Given the description of an element on the screen output the (x, y) to click on. 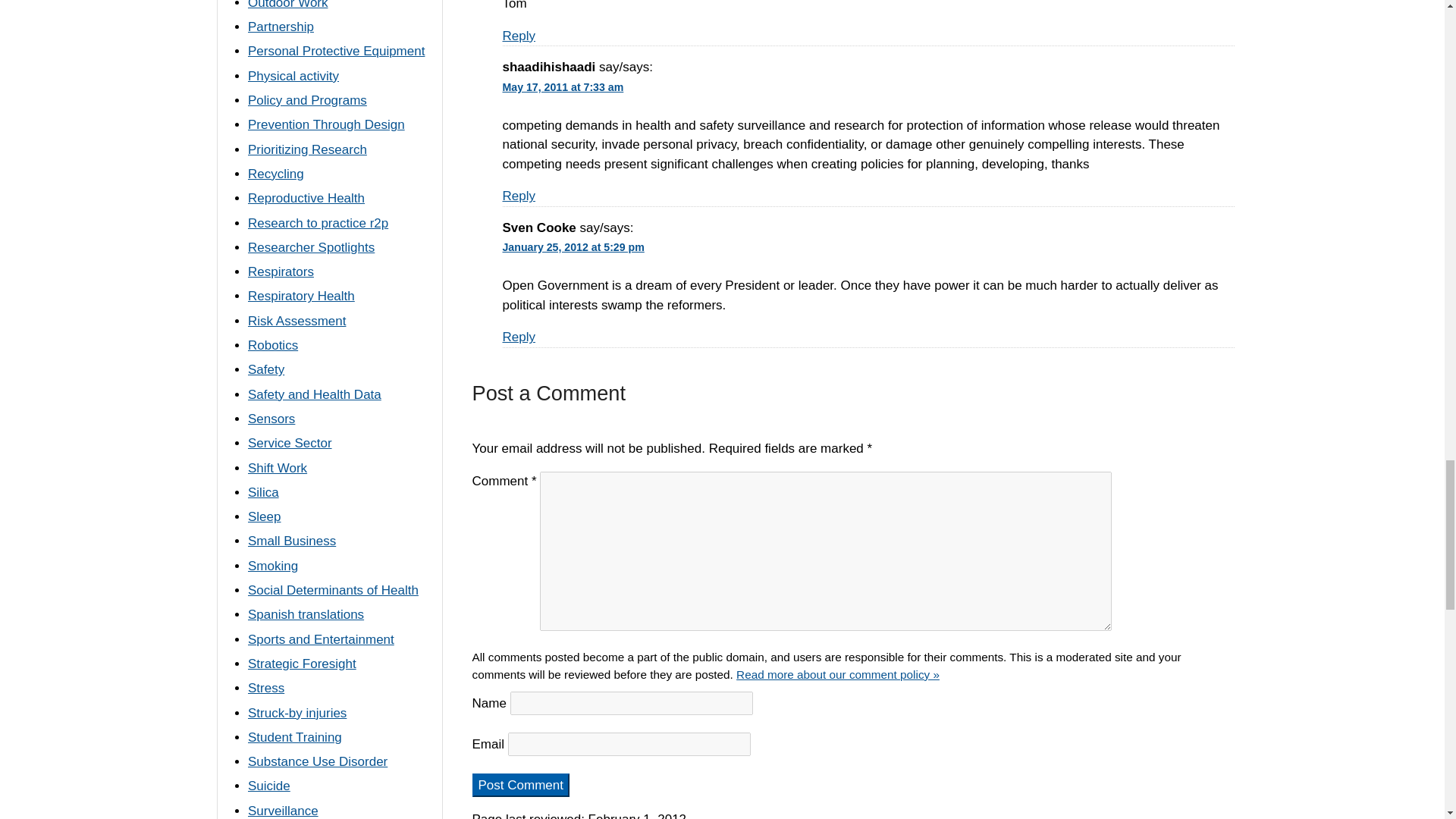
Post Comment (520, 785)
Share to Facebook (875, 817)
May 17, 2011 at 7:33 am (566, 86)
Share to LinkedIn (950, 817)
Reply (518, 196)
Reply (518, 35)
Reply (518, 336)
Share to Twitter (913, 817)
Embed this Page (988, 817)
January 25, 2012 at 5:29 pm (576, 246)
